Given the description of an element on the screen output the (x, y) to click on. 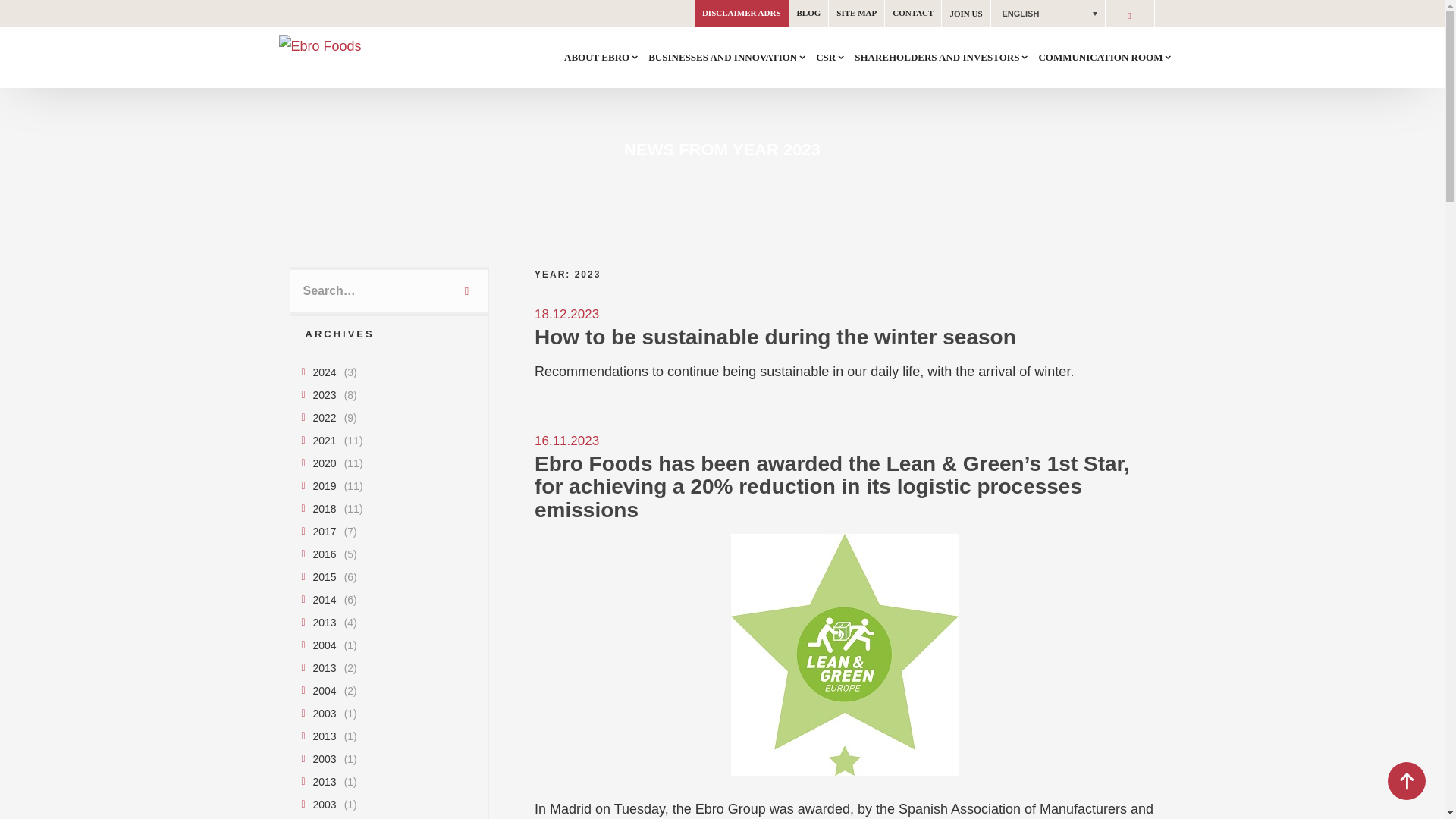
Go to top (1406, 781)
DISCLAIMER ADRS (741, 13)
BUSINESSES AND INNOVATION (726, 57)
BLOG (808, 13)
ABOUT EBRO (601, 57)
SHAREHOLDERS AND INVESTORS (941, 57)
SITE MAP (855, 13)
ENGLISH (1046, 13)
JOIN US (966, 13)
CONTACT (912, 13)
Search for: (367, 291)
